Given the description of an element on the screen output the (x, y) to click on. 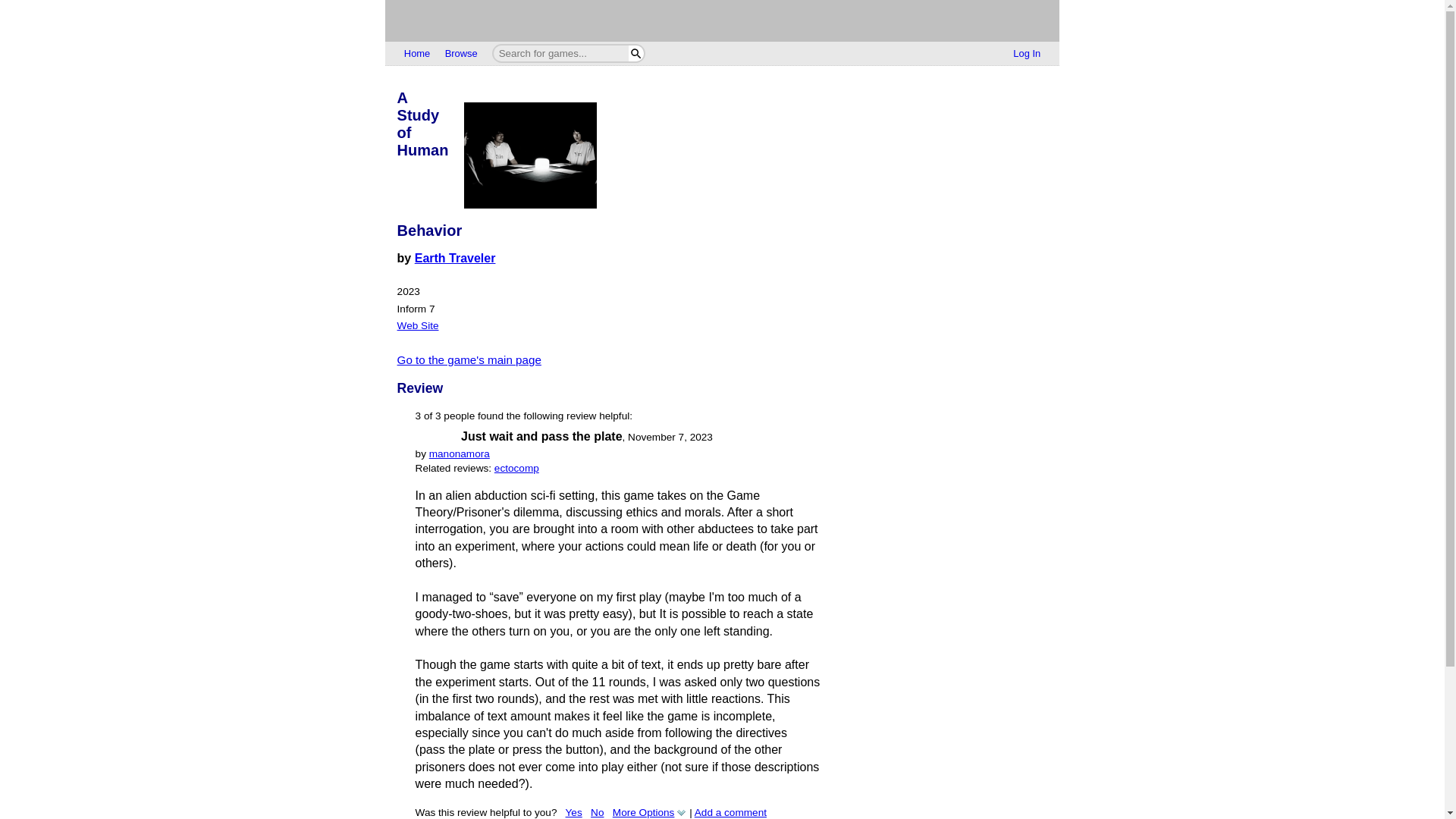
Log In (1027, 53)
More Options (649, 812)
Add a comment (730, 812)
Browse (461, 53)
Earth Traveler (455, 257)
manonamora (459, 453)
Web Site (418, 325)
Home (417, 53)
No (597, 812)
2 Stars (436, 437)
